Given the description of an element on the screen output the (x, y) to click on. 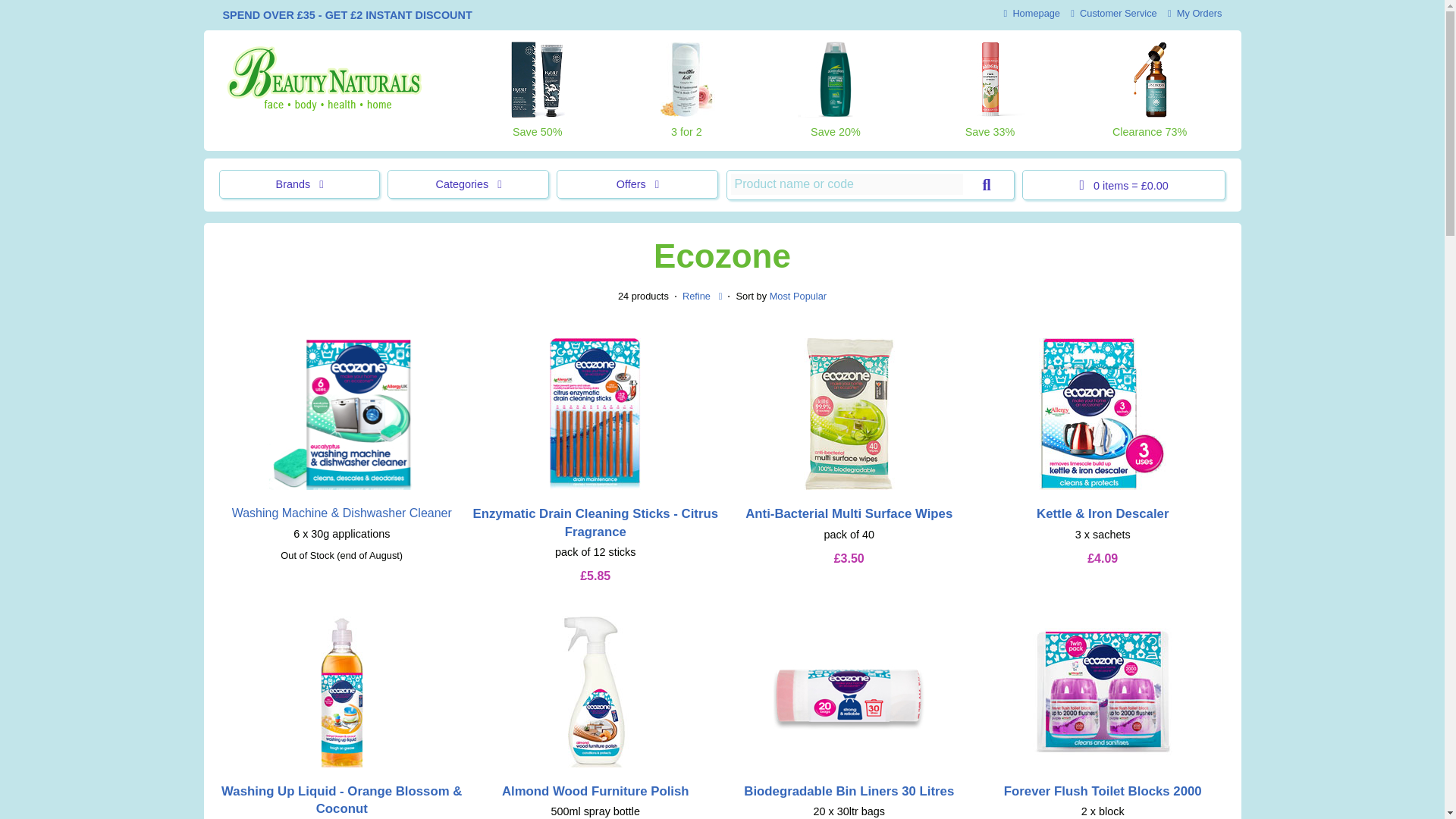
Categories    (467, 184)
Offers    (636, 184)
  Homepage (1031, 12)
Brands    (299, 184)
Search (985, 184)
3 for 2 (686, 90)
